Given the description of an element on the screen output the (x, y) to click on. 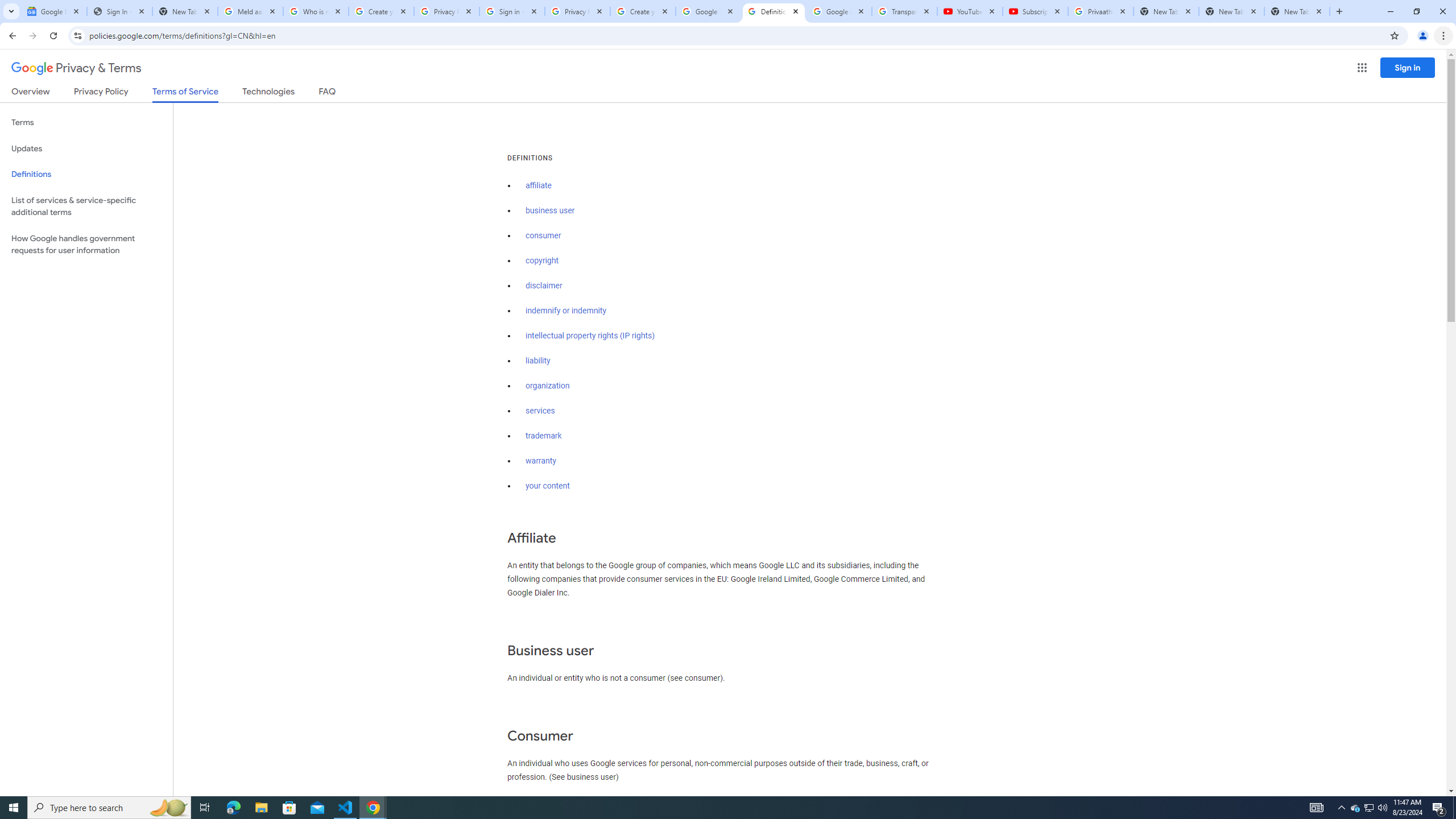
liability (537, 361)
intellectual property rights (IP rights) (590, 335)
organization (547, 385)
warranty (540, 461)
YouTube (969, 11)
Create your Google Account (643, 11)
